Given the description of an element on the screen output the (x, y) to click on. 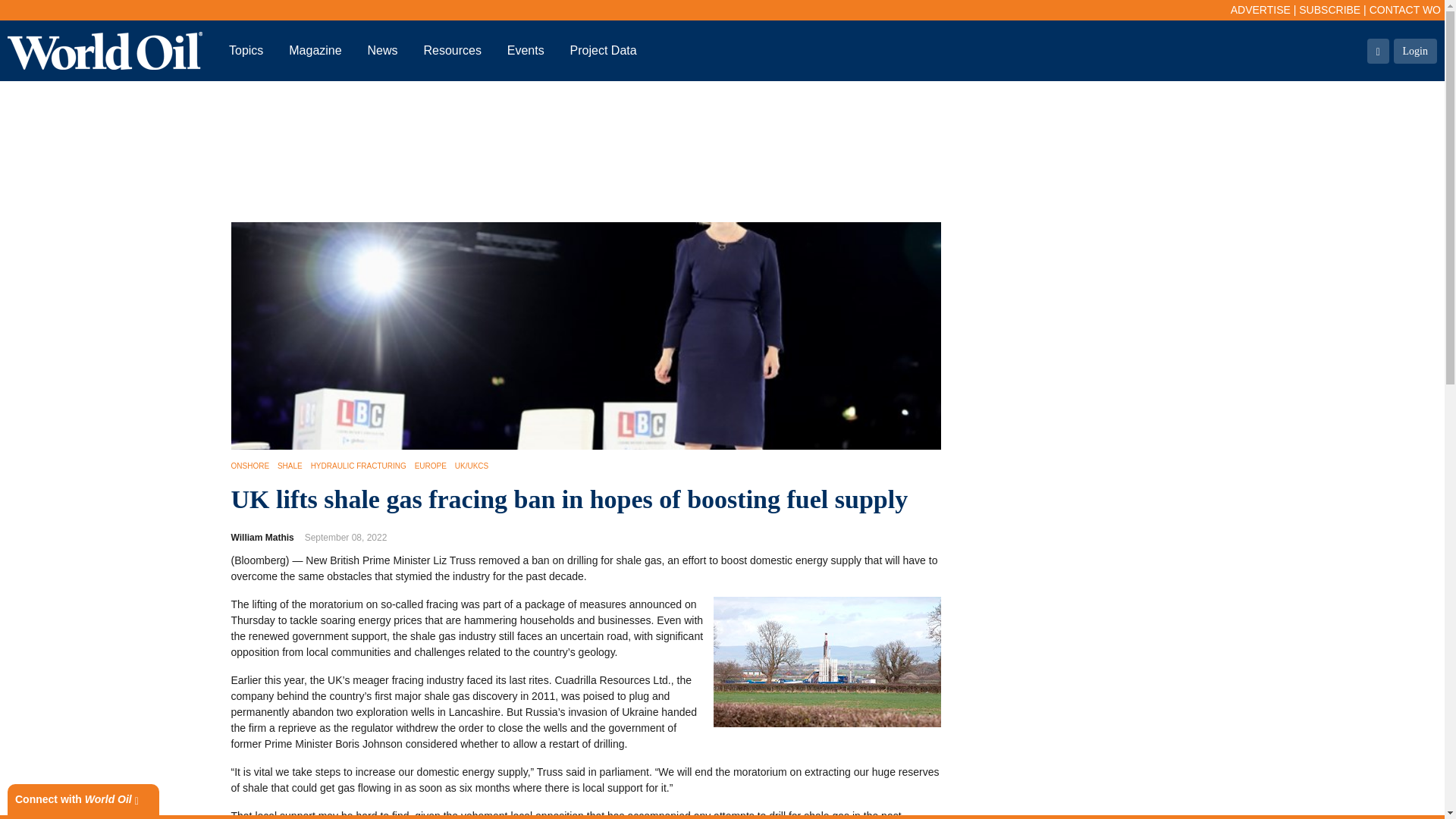
SUBSCRIBE (1328, 9)
CONTACT WO (1405, 9)
ADVERTISE (1260, 9)
Topics (245, 50)
3rd party ad content (722, 151)
